Given the description of an element on the screen output the (x, y) to click on. 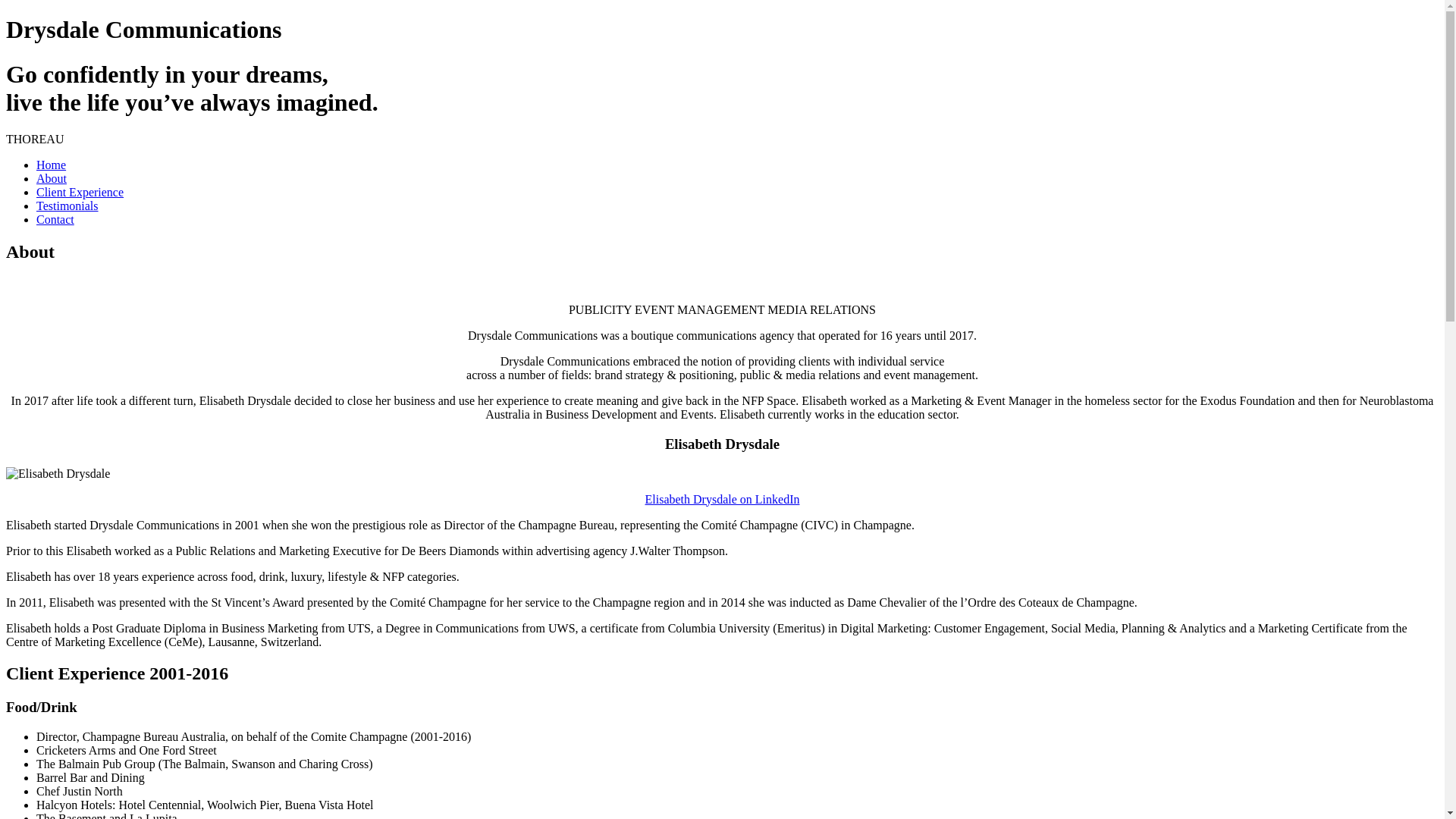
Testimonials Element type: text (67, 205)
Home Element type: text (50, 164)
About Element type: text (51, 178)
Elisabeth Drysdale on LinkedIn Element type: text (722, 498)
Client Experience Element type: text (79, 191)
Contact Element type: text (55, 219)
